Given the description of an element on the screen output the (x, y) to click on. 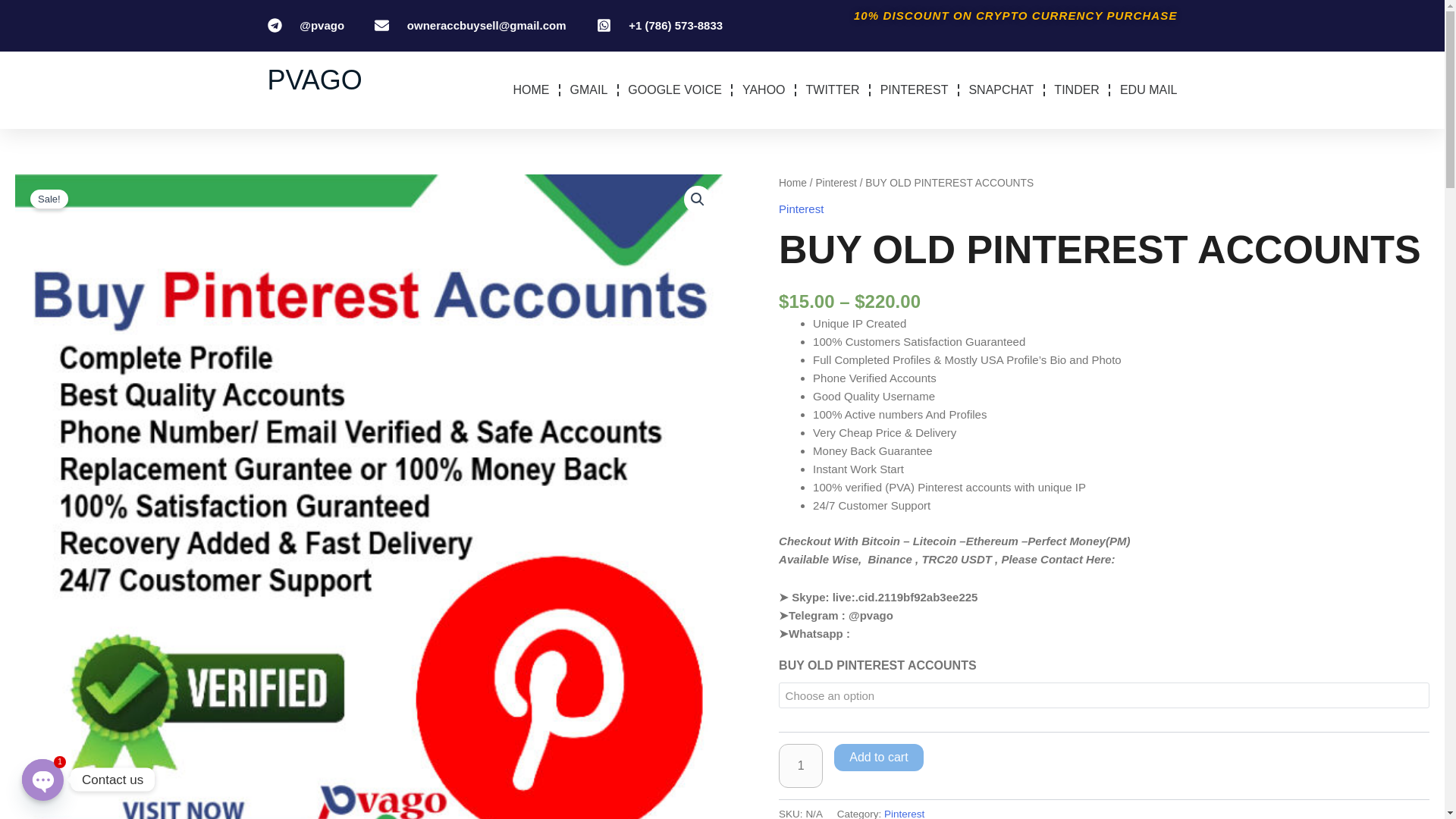
SNAPCHAT (1000, 89)
EDU MAIL (1148, 89)
PINTEREST (914, 89)
TWITTER (833, 89)
PVAGO (313, 79)
TINDER (1076, 89)
1 (800, 765)
HOME (531, 89)
GMAIL (589, 89)
GOOGLE VOICE (674, 89)
YAHOO (764, 89)
